Given the description of an element on the screen output the (x, y) to click on. 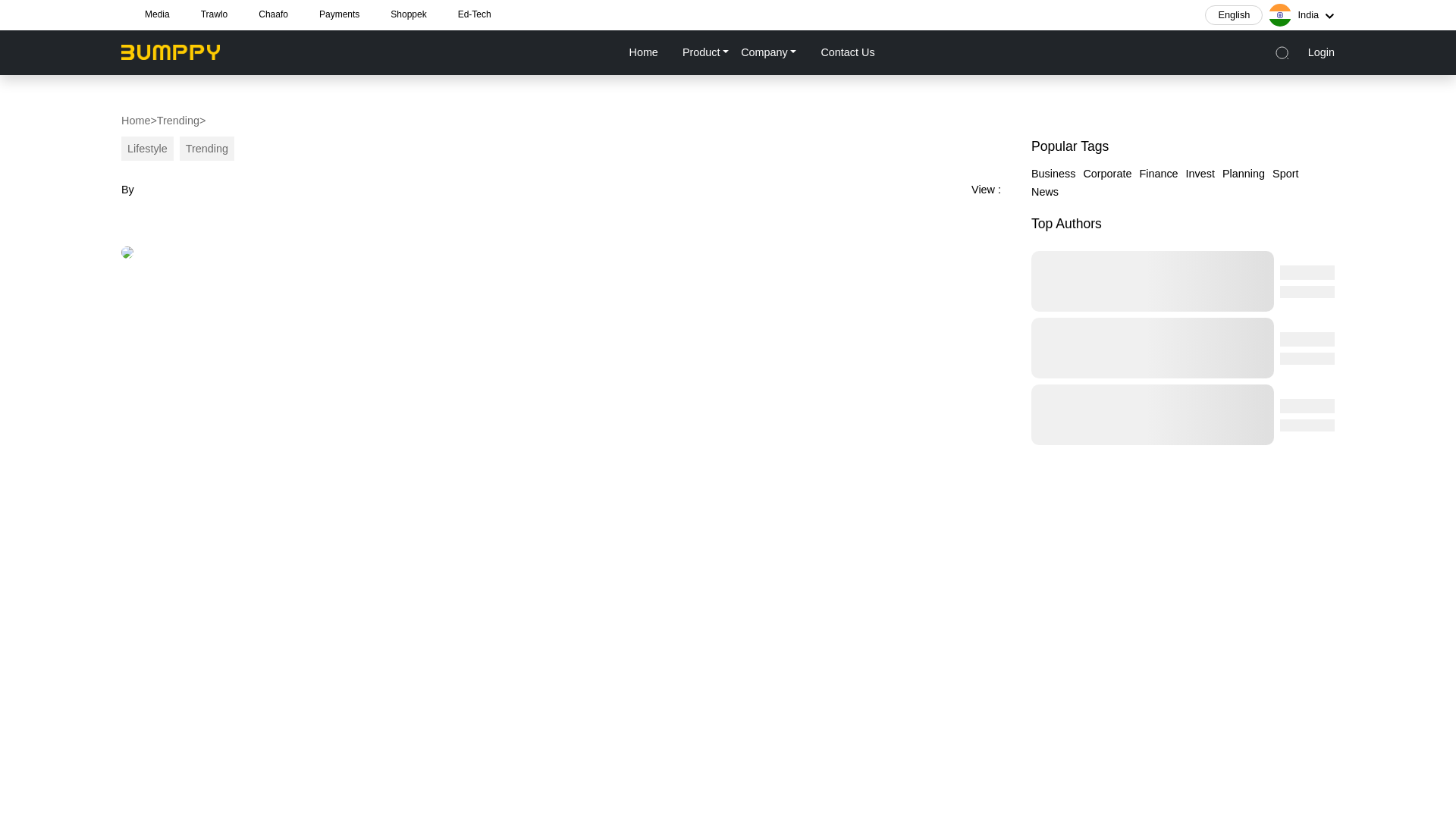
Login (1321, 52)
Company (768, 52)
Contact Us (847, 52)
Product (706, 52)
Home (134, 120)
Home (642, 52)
